Given the description of an element on the screen output the (x, y) to click on. 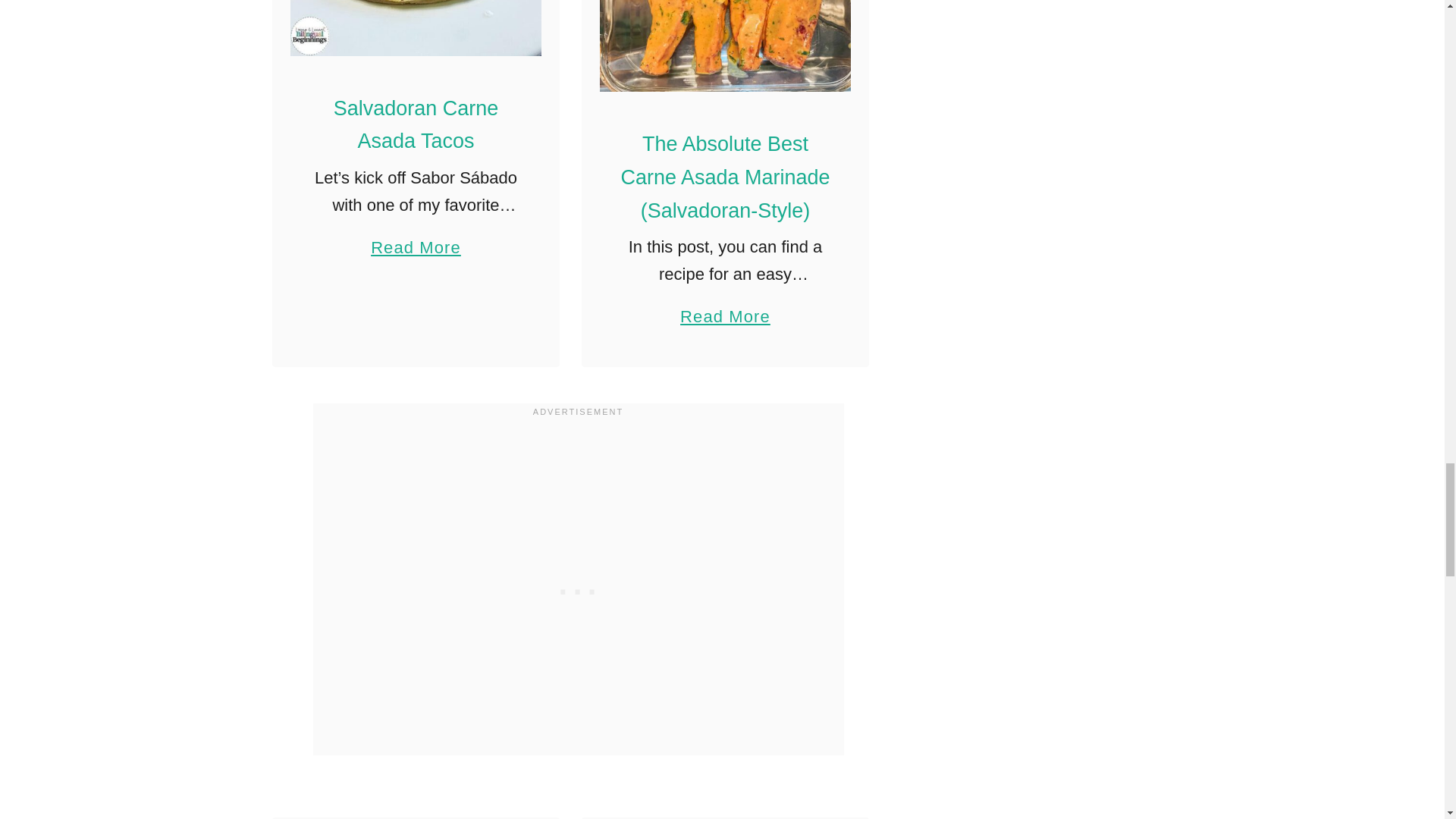
Salvadoran Carne Asada Tacos (416, 125)
Salvadoran Carne Asada Tacos (415, 28)
